Given the description of an element on the screen output the (x, y) to click on. 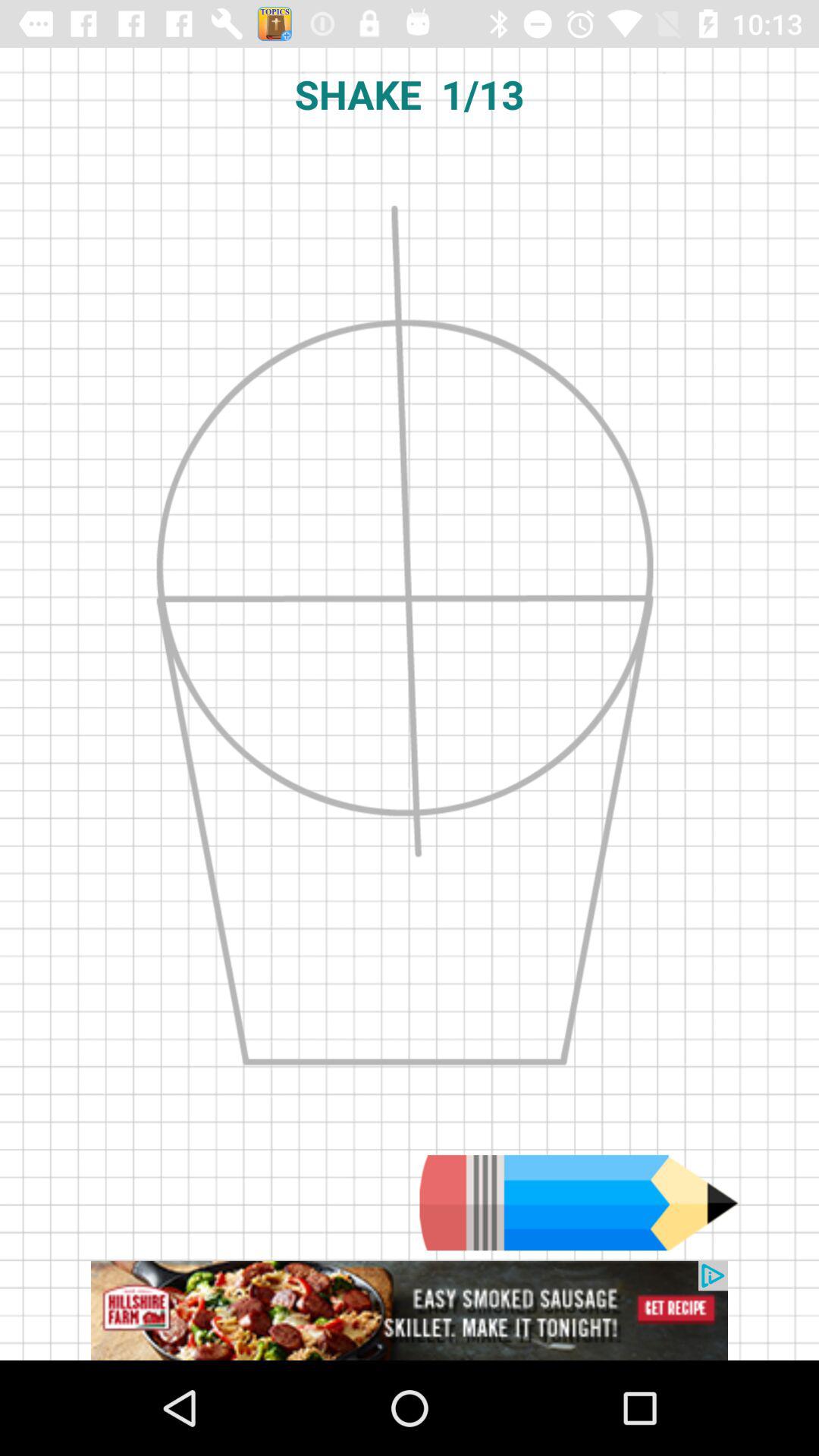
to draw (578, 1202)
